Given the description of an element on the screen output the (x, y) to click on. 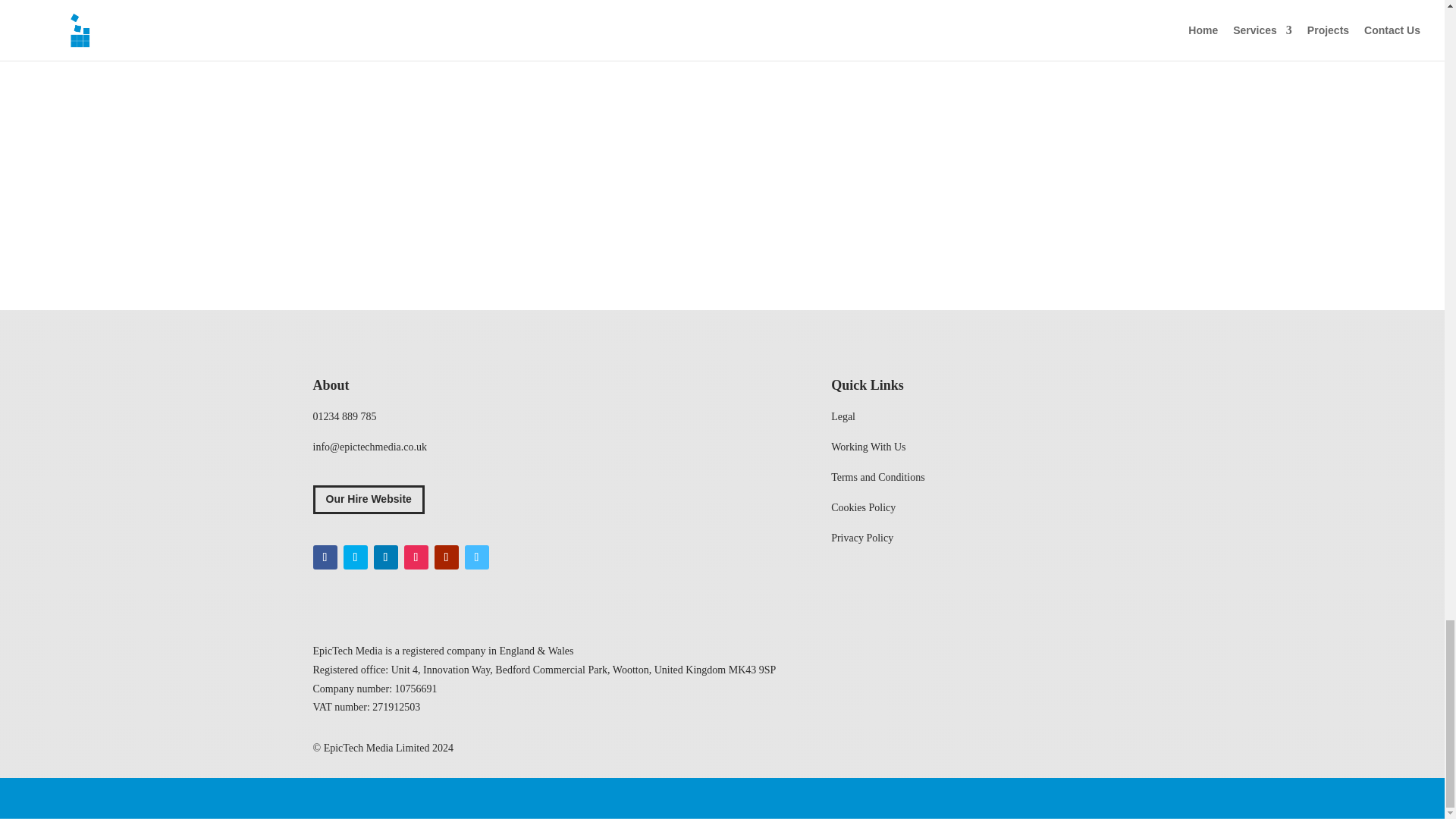
Terms and Conditions (877, 477)
01234 889 785 (344, 416)
Follow on Facebook (324, 557)
Legal (843, 416)
Privacy Policy (862, 537)
Our Hire Website (368, 499)
Follow on Vimeo (475, 557)
Follow on Youtube (445, 557)
Follow on Twitter (354, 557)
Working With Us (868, 446)
Follow on Instagram (415, 557)
Cookies Policy (863, 507)
Follow on LinkedIn (384, 557)
